Given the description of an element on the screen output the (x, y) to click on. 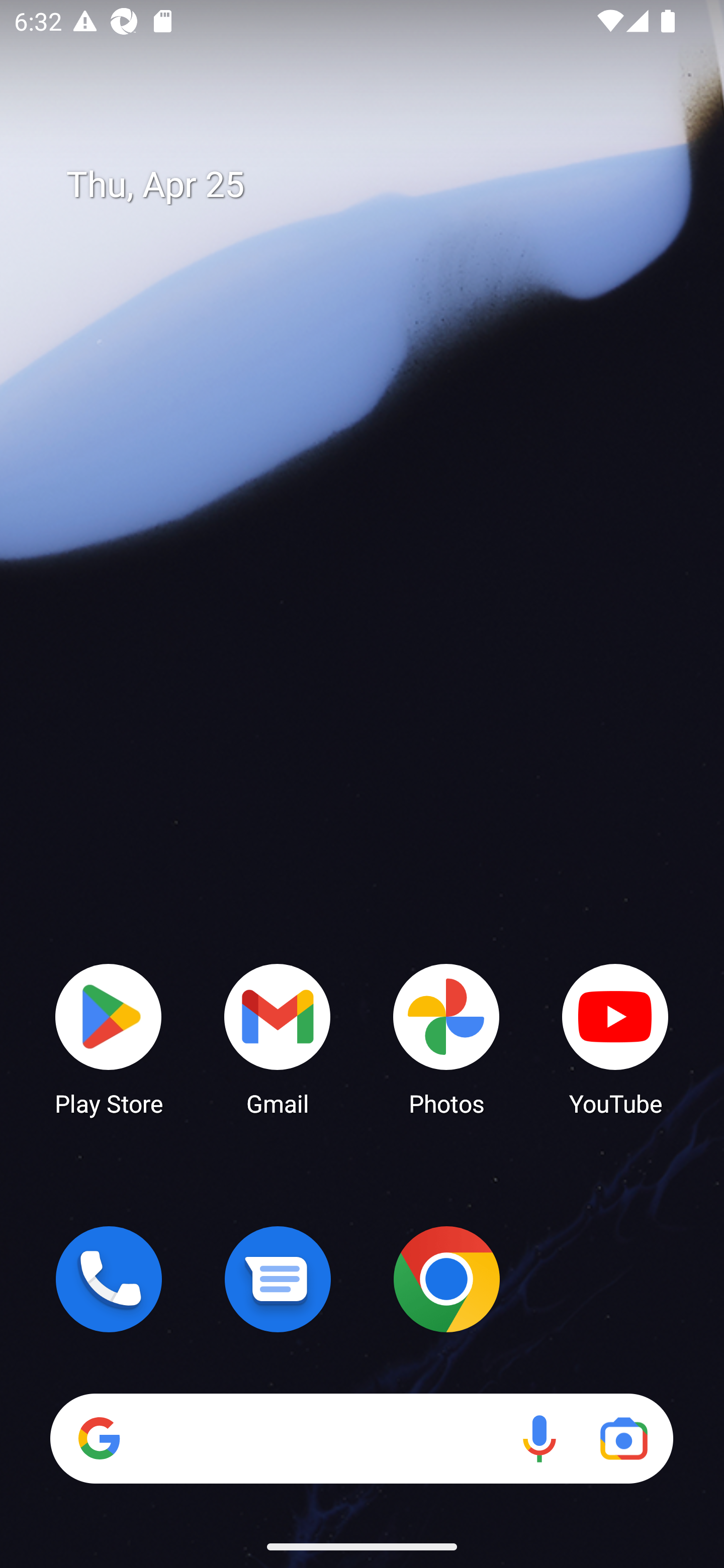
Thu, Apr 25 (375, 184)
Play Store (108, 1038)
Gmail (277, 1038)
Photos (445, 1038)
YouTube (615, 1038)
Phone (108, 1279)
Messages (277, 1279)
Chrome (446, 1279)
Search Voice search Google Lens (361, 1438)
Voice search (539, 1438)
Google Lens (623, 1438)
